Given the description of an element on the screen output the (x, y) to click on. 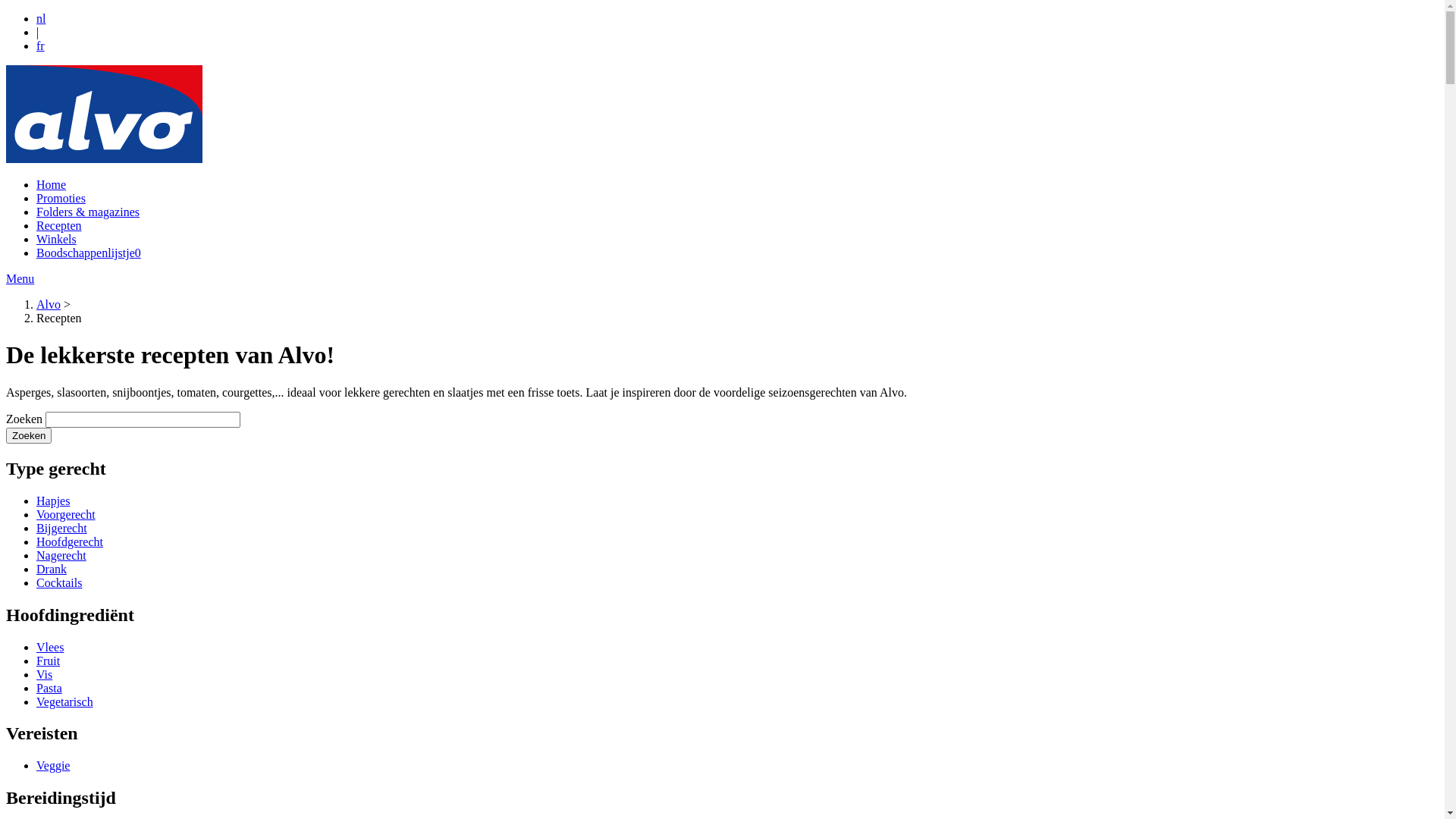
Vis Element type: text (44, 673)
Alvo Element type: text (48, 304)
Bijgerecht Element type: text (61, 527)
Voorgerecht Element type: text (65, 514)
nl Element type: text (40, 18)
Pasta Element type: text (49, 686)
Vegetarisch Element type: text (64, 700)
Menu Element type: text (20, 278)
Cocktails Element type: text (58, 582)
Zoeken Element type: text (28, 435)
Vlees Element type: text (49, 646)
Boodschappenlijstje0 Element type: text (88, 252)
Folders & magazines Element type: text (87, 211)
Winkels Element type: text (56, 238)
Overslaan en naar de inhoud gaan Element type: text (6, 12)
Recepten Element type: text (58, 225)
Hoofdgerecht Element type: text (69, 541)
Nagerecht Element type: text (61, 555)
Hapjes Element type: text (52, 500)
Promoties Element type: text (60, 197)
Fruit Element type: text (47, 659)
Drank Element type: text (51, 568)
Veggie Element type: text (52, 765)
Home Element type: text (50, 184)
fr Element type: text (40, 45)
